Given the description of an element on the screen output the (x, y) to click on. 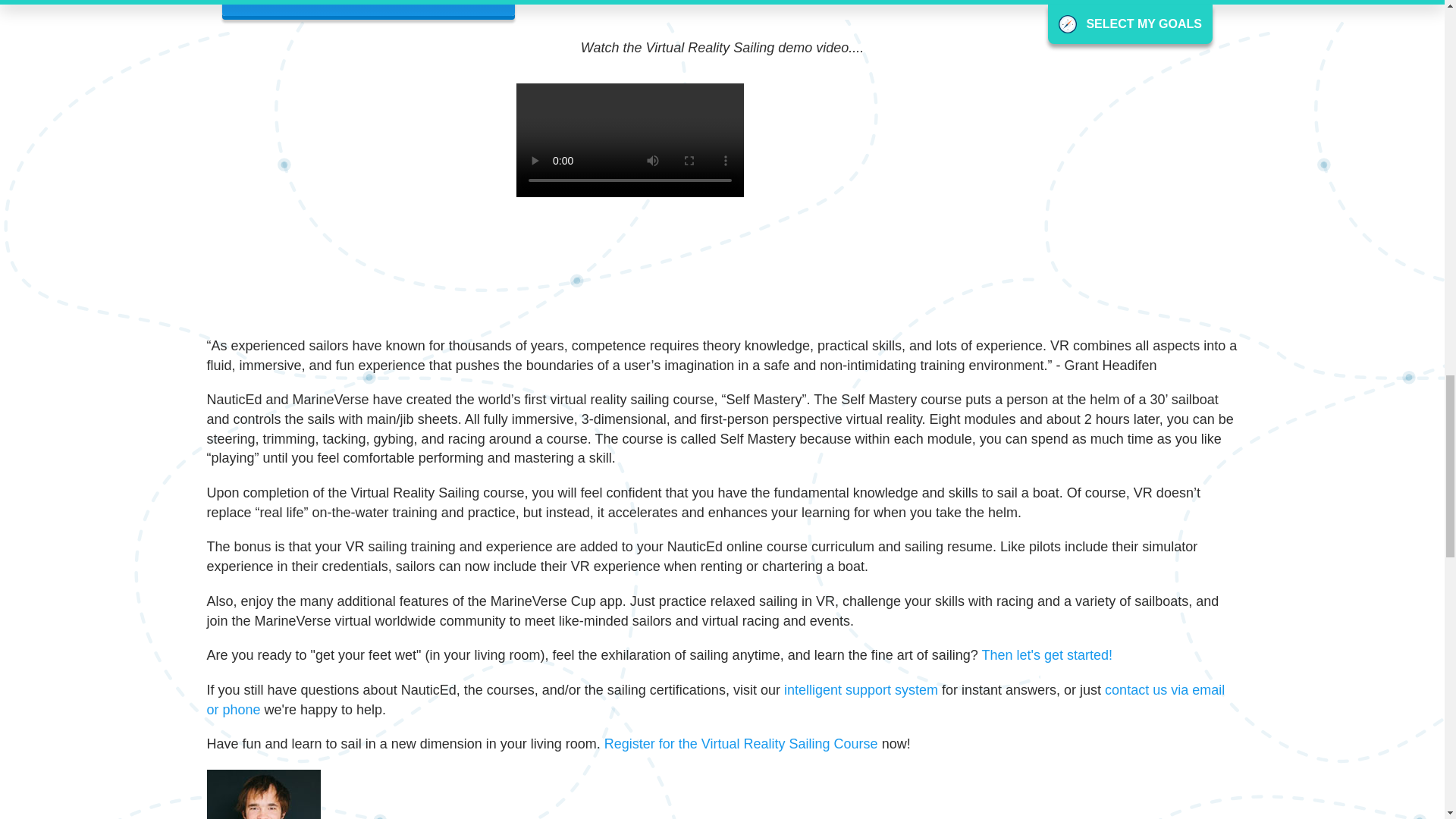
Take the NauticEd Sailing School skipper course now (740, 743)
contact NauticEd Sailing School (715, 699)
Take the sailing skipper course now (1046, 654)
intelligent support system (860, 689)
Register for the Virtual Reality Sailing Course (740, 743)
contact us via email or phone (715, 699)
Then let's get started! (1046, 654)
